Given the description of an element on the screen output the (x, y) to click on. 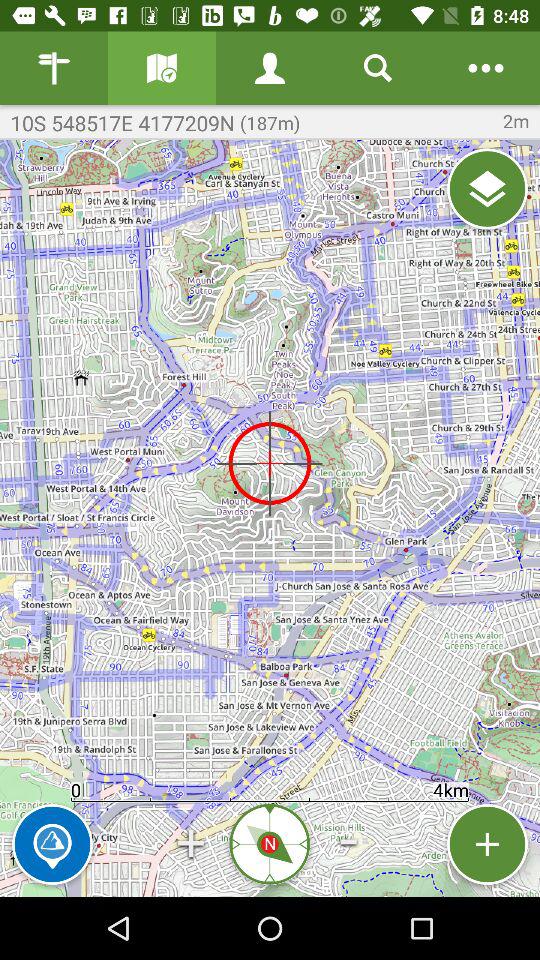
open map settings panel (486, 68)
